Given the description of an element on the screen output the (x, y) to click on. 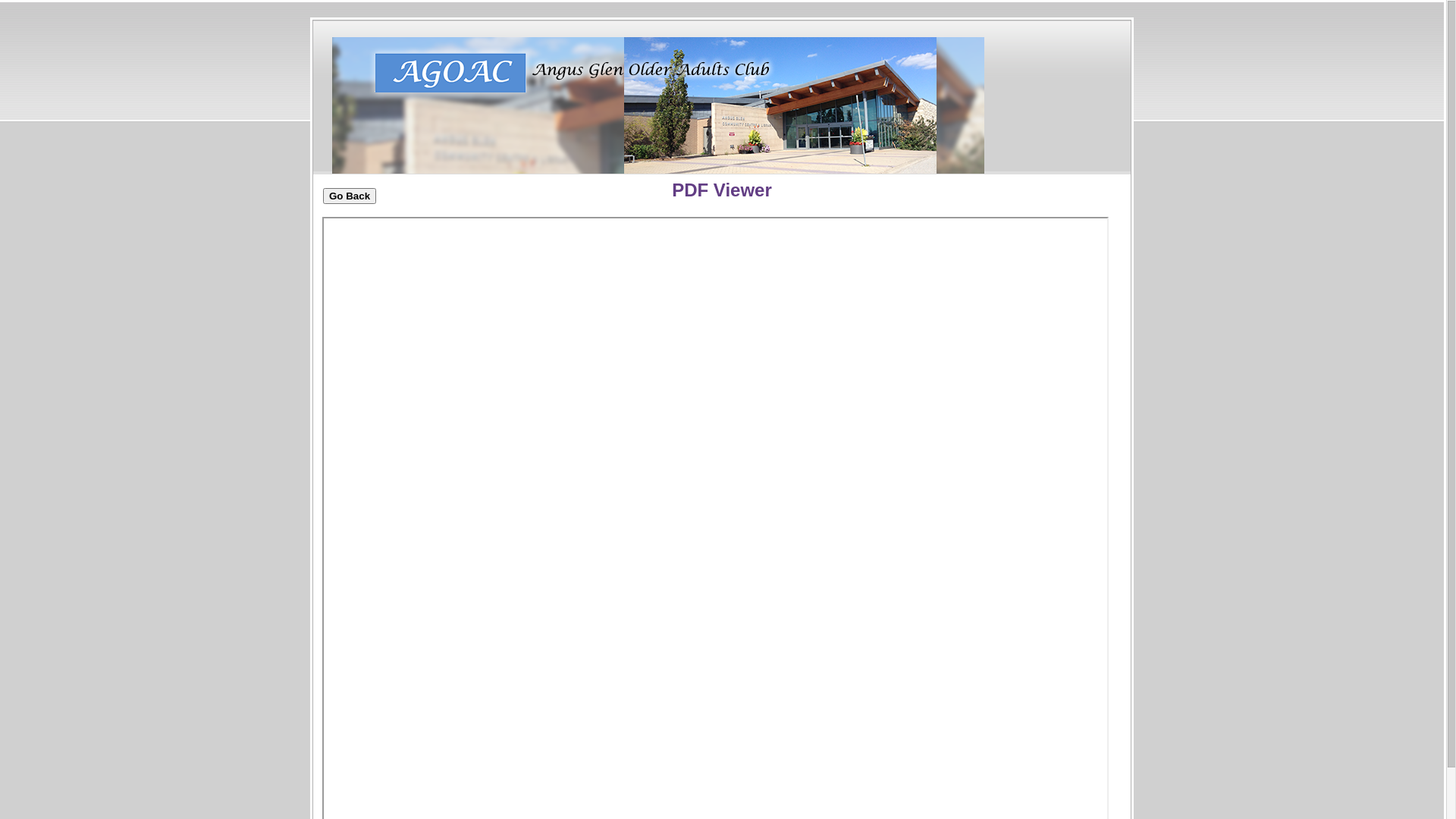
Go Back Element type: text (349, 195)
